Given the description of an element on the screen output the (x, y) to click on. 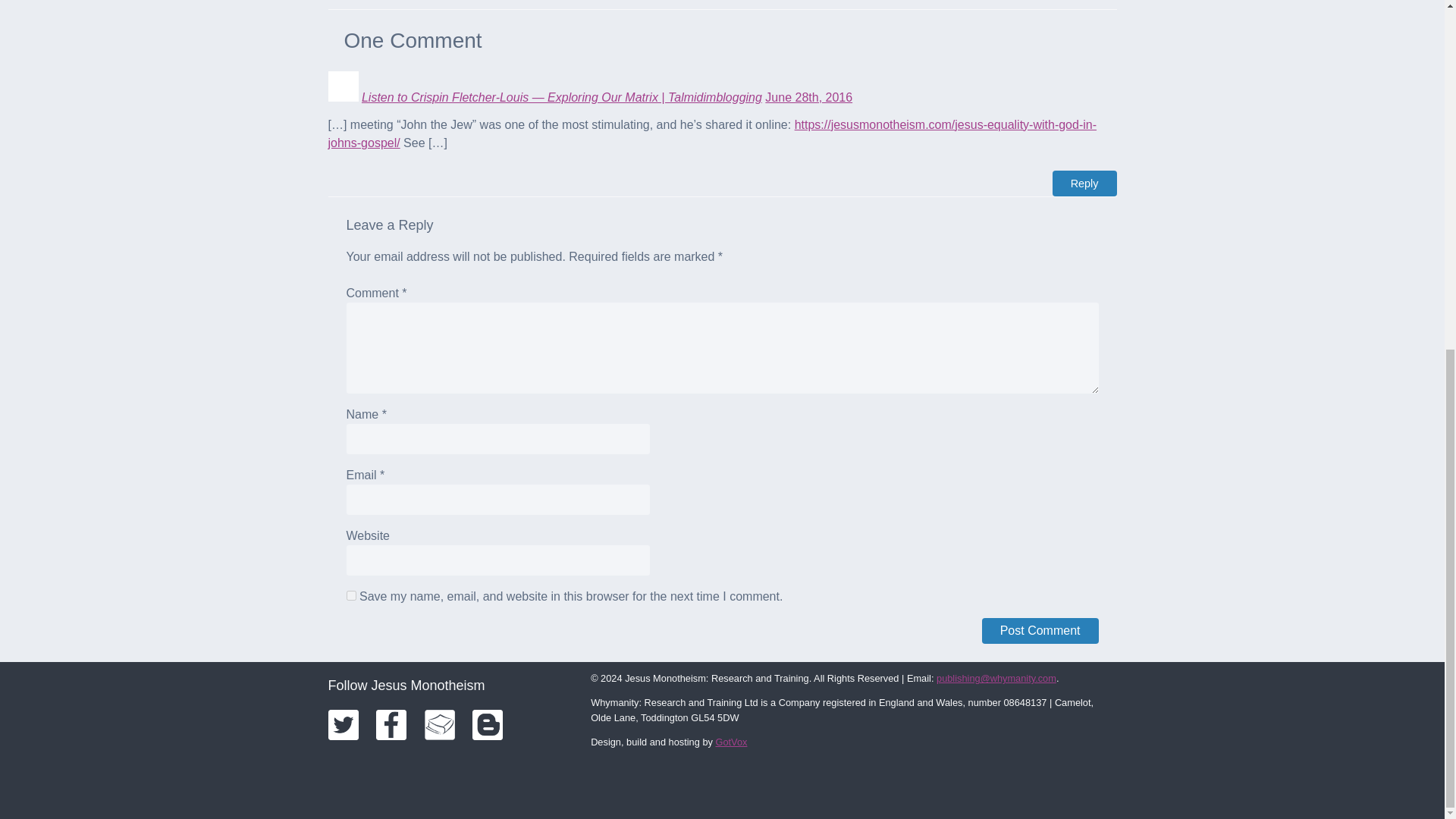
June 28th, 2016 (808, 97)
Post Comment (1040, 630)
Reply (1084, 183)
yes (350, 595)
Post Comment (1040, 630)
GotVox (730, 741)
